Given the description of an element on the screen output the (x, y) to click on. 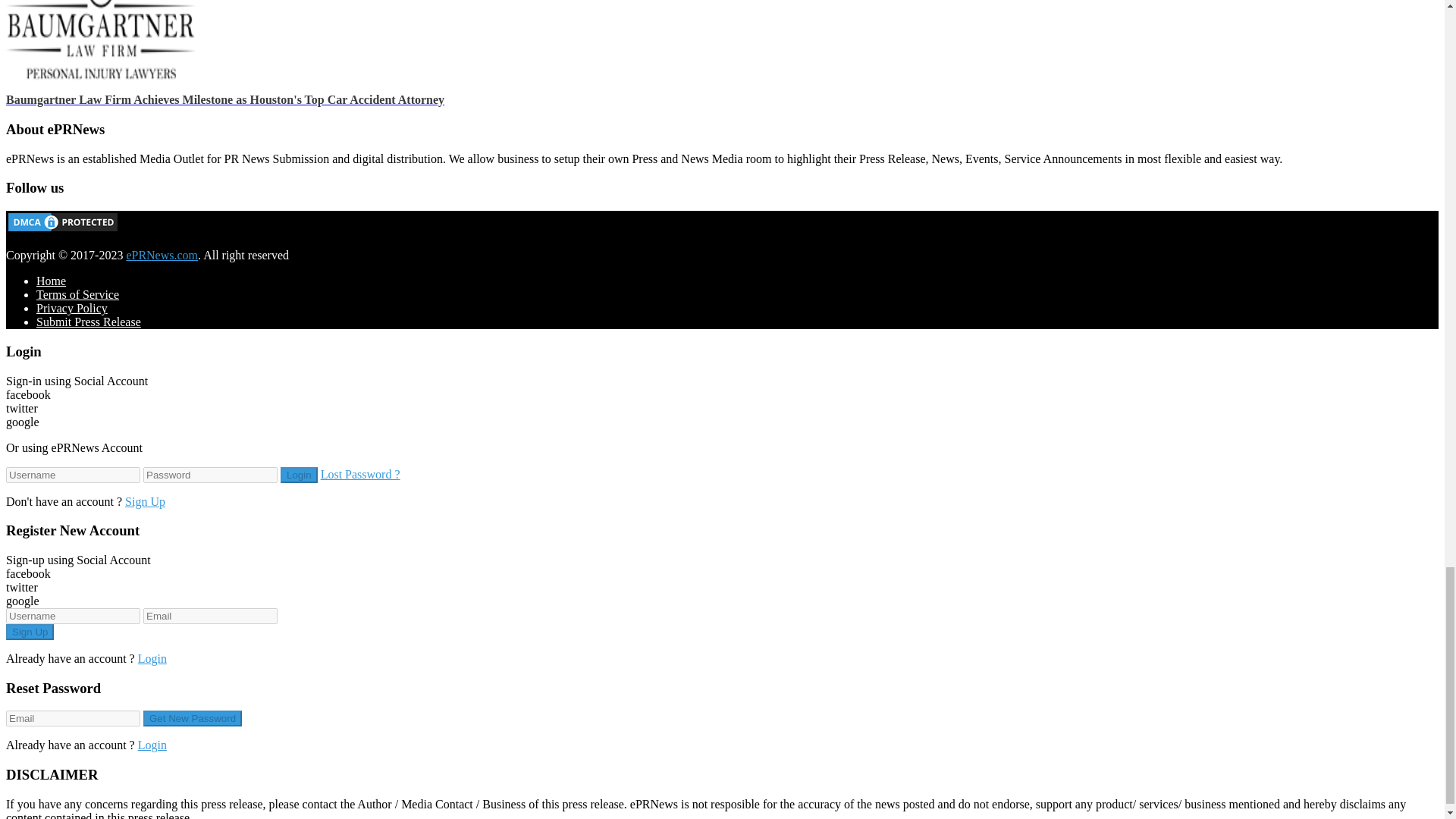
Sign Up (29, 631)
Login (299, 474)
Get New Password (191, 718)
DMCA.com Protection Status (62, 228)
